Given the description of an element on the screen output the (x, y) to click on. 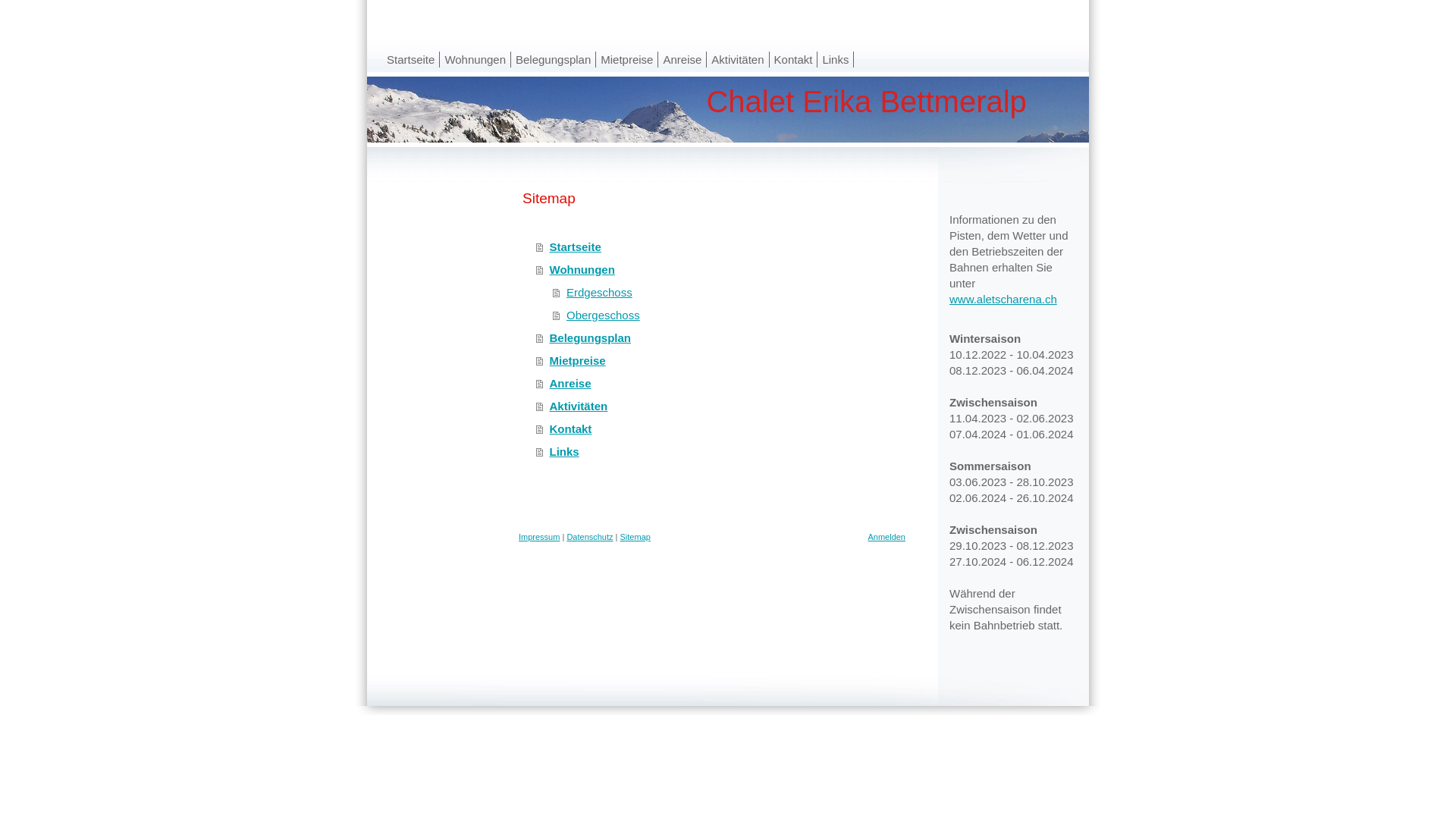
Startseite Element type: text (410, 59)
Anreise Element type: text (682, 59)
Belegungsplan Element type: text (720, 337)
Erdgeschoss Element type: text (728, 292)
Datenschutz Element type: text (589, 536)
Anreise Element type: text (720, 383)
Kontakt Element type: text (720, 428)
Mietpreise Element type: text (627, 59)
Mietpreise Element type: text (720, 360)
Wohnungen Element type: text (475, 59)
Wohnungen Element type: text (720, 269)
Anmelden Element type: text (886, 536)
Links Element type: text (720, 451)
Chalet Erika Bettmeralp Element type: text (727, 109)
Impressum Element type: text (538, 536)
Links Element type: text (835, 59)
Sitemap Element type: text (635, 536)
Kontakt Element type: text (793, 59)
Obergeschoss Element type: text (728, 315)
Startseite Element type: text (720, 246)
www.aletscharena.ch Element type: text (1003, 298)
Belegungsplan Element type: text (553, 59)
